Given the description of an element on the screen output the (x, y) to click on. 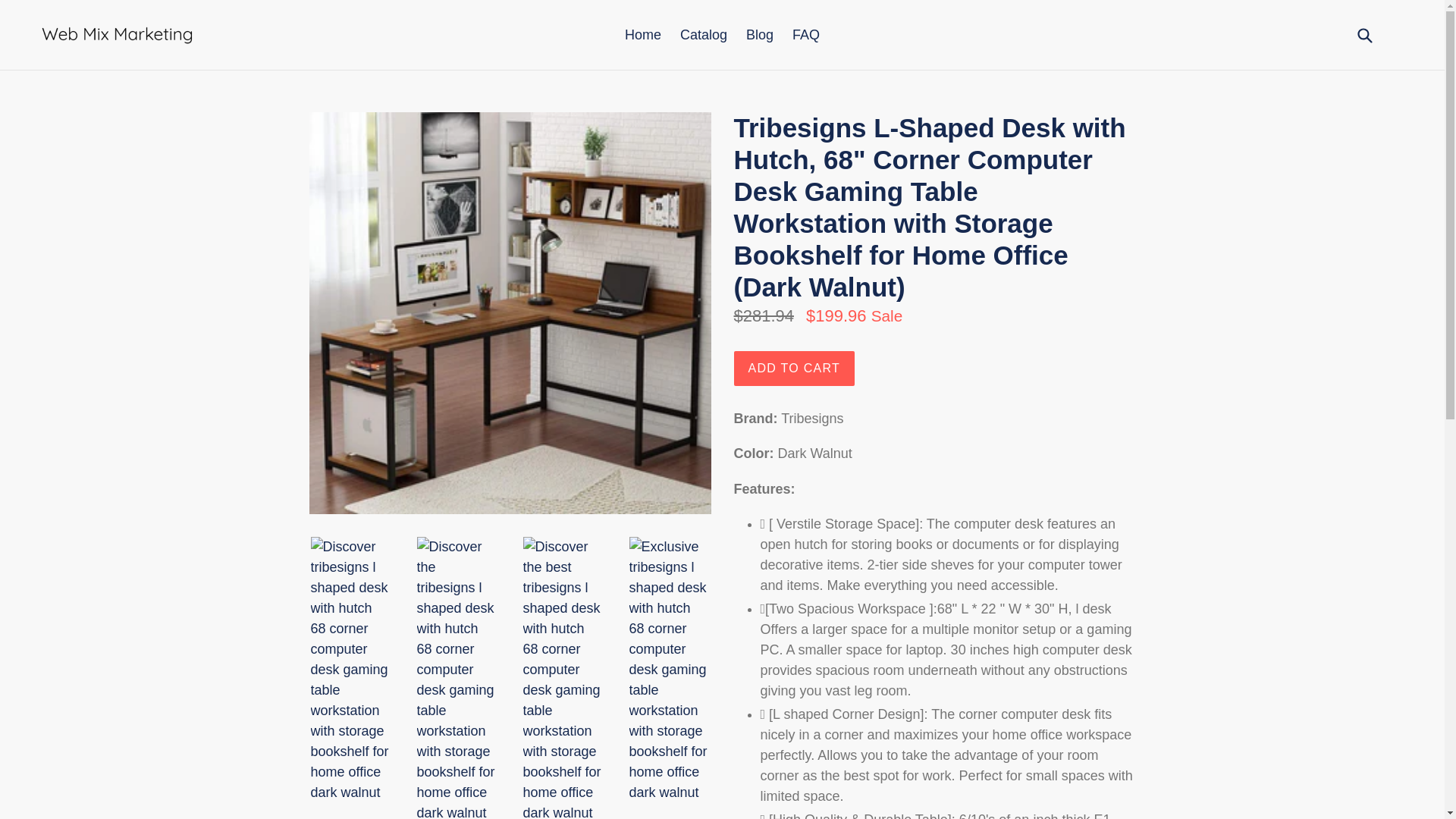
FAQ (805, 34)
ADD TO CART (794, 368)
Catalog (703, 34)
Home (642, 34)
Blog (759, 34)
